Given the description of an element on the screen output the (x, y) to click on. 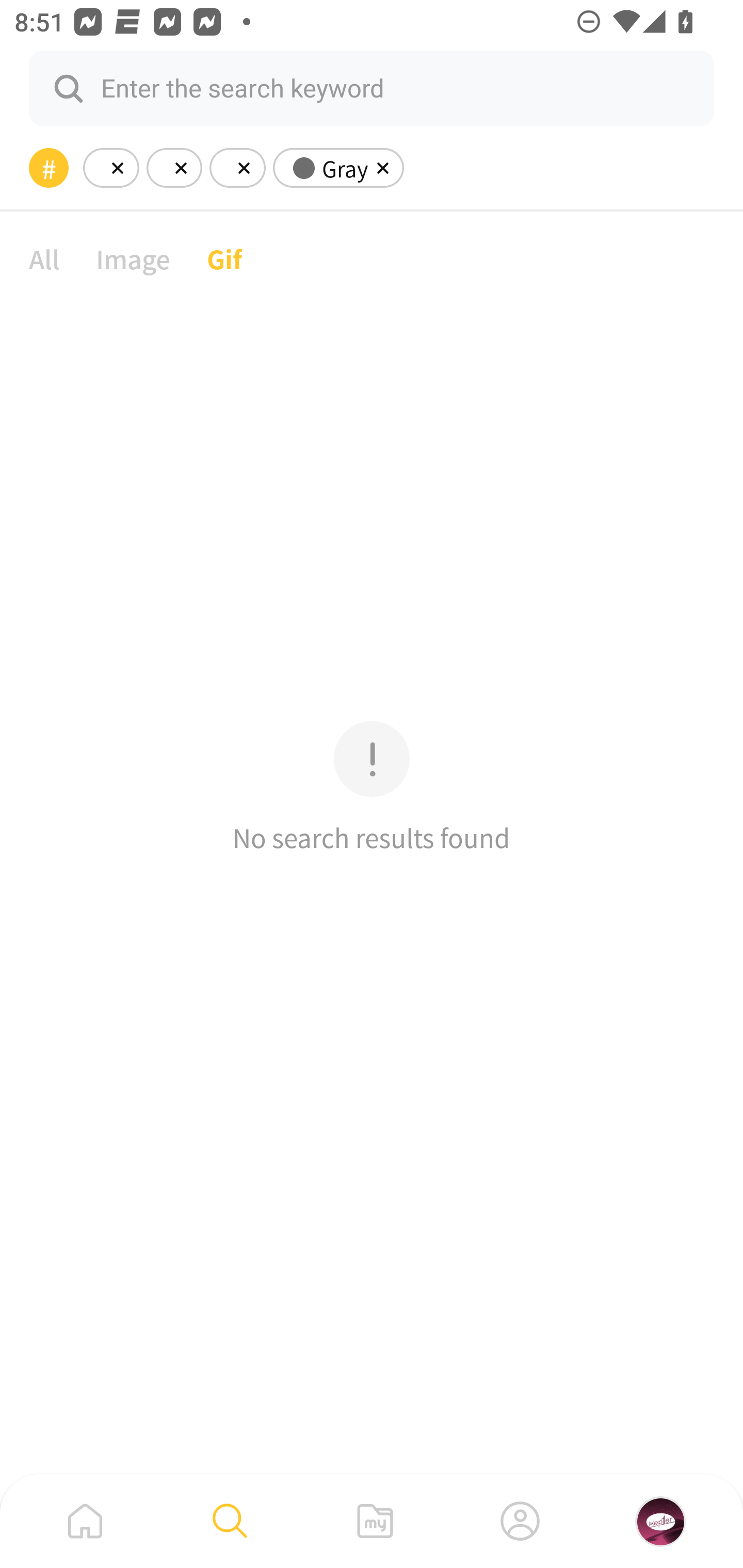
All (44, 257)
Image (132, 257)
Gif (224, 257)
